Given the description of an element on the screen output the (x, y) to click on. 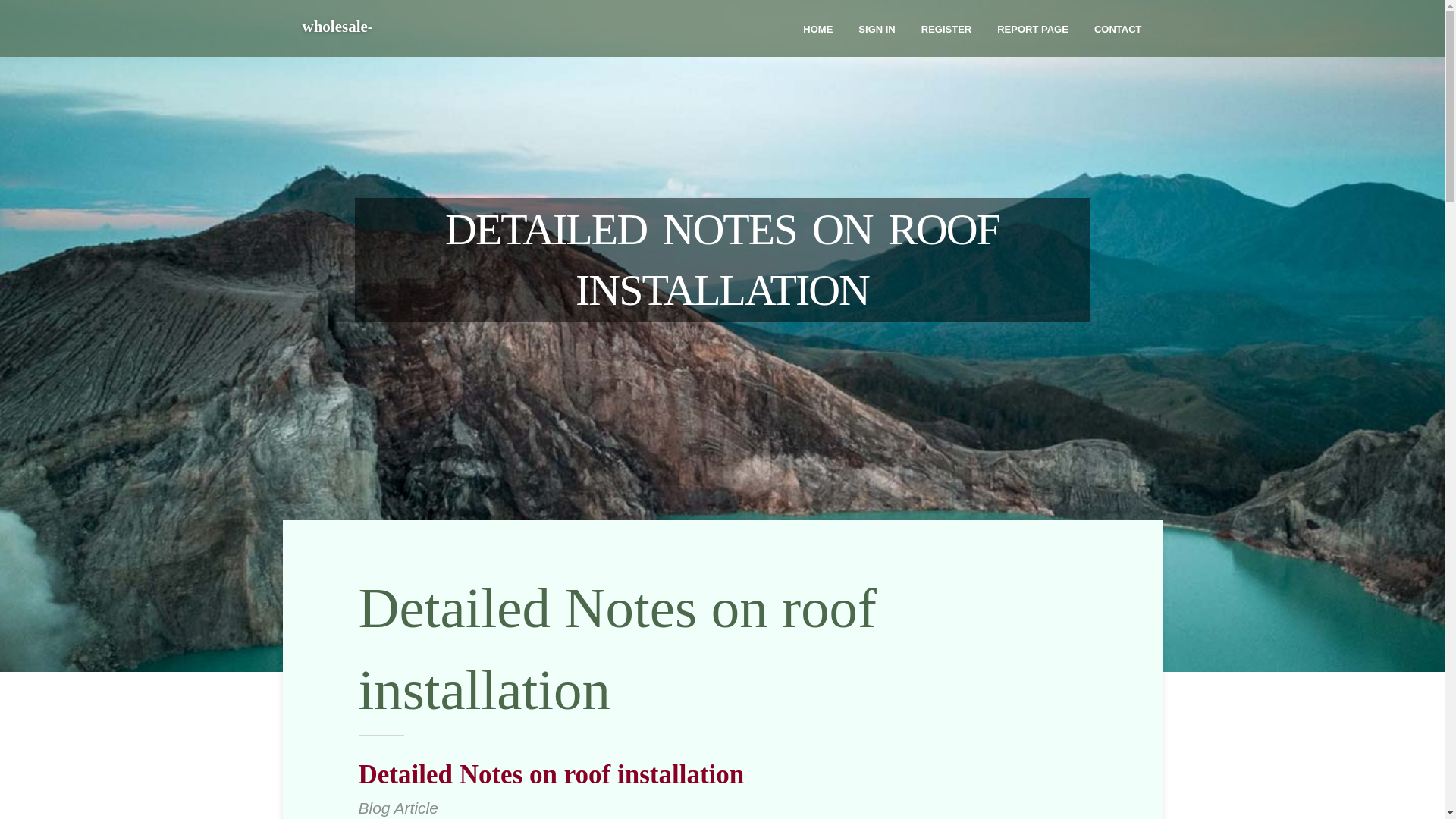
wholesale-nutrition72726.wizzardsblog.com (422, 47)
REGISTER (946, 28)
HOME (817, 28)
REPORT PAGE (1032, 28)
SIGN IN (876, 28)
CONTACT (1117, 28)
